Given the description of an element on the screen output the (x, y) to click on. 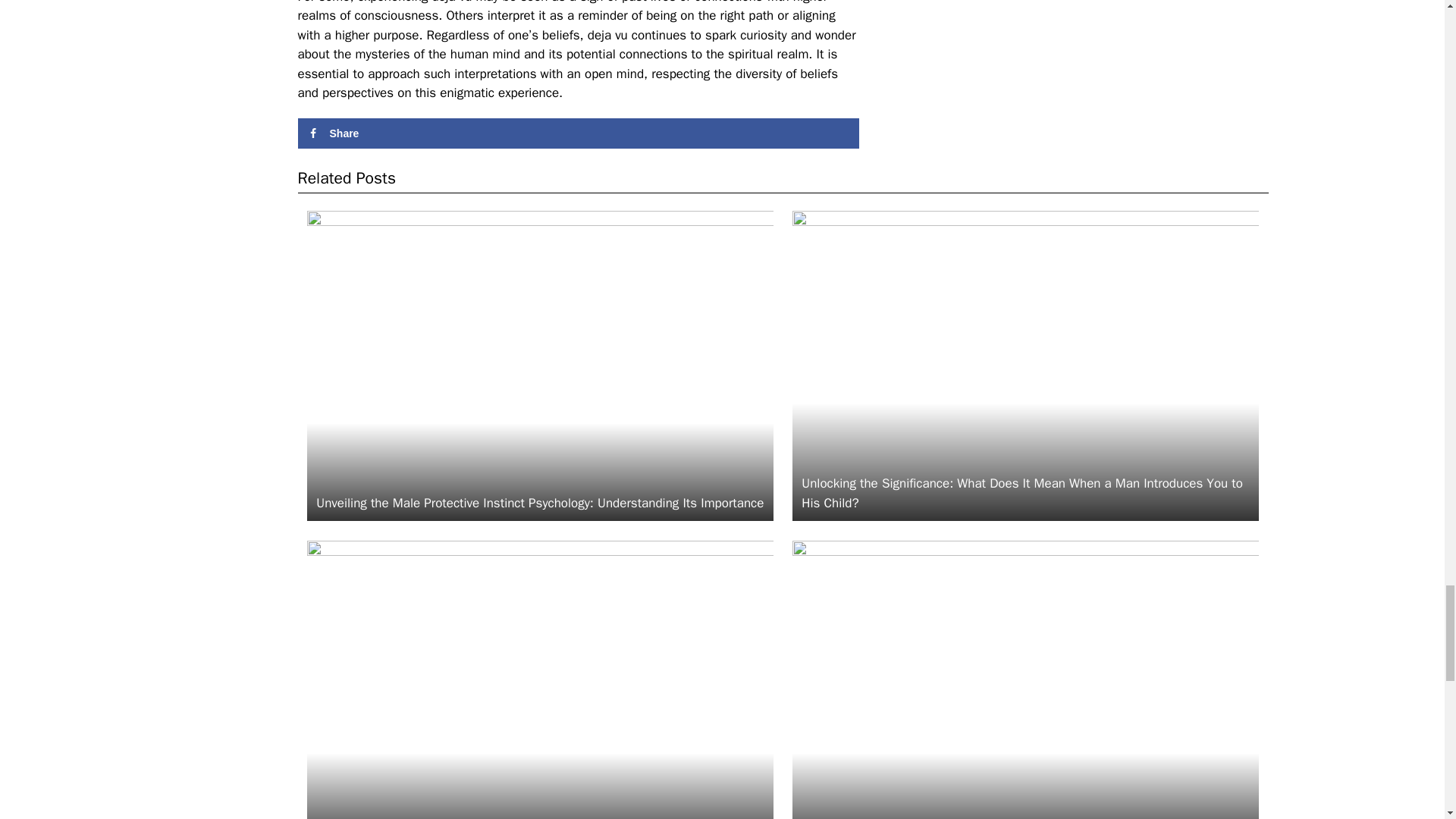
Share on Facebook (578, 132)
Share (578, 132)
